Given the description of an element on the screen output the (x, y) to click on. 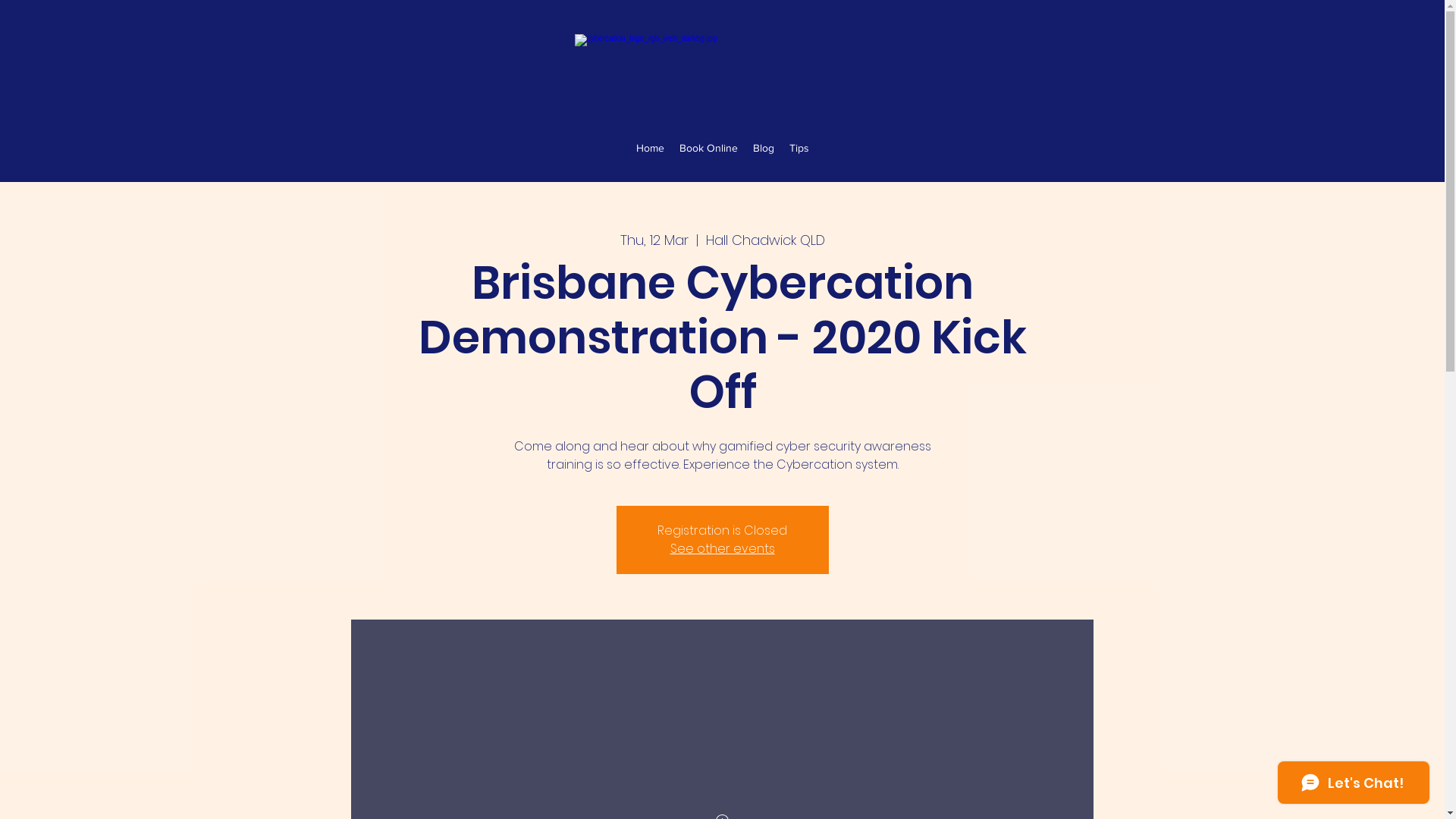
Blog Element type: text (762, 147)
Tips Element type: text (798, 147)
Book Online Element type: text (708, 147)
Home Element type: text (649, 147)
See other events Element type: text (722, 548)
